Given the description of an element on the screen output the (x, y) to click on. 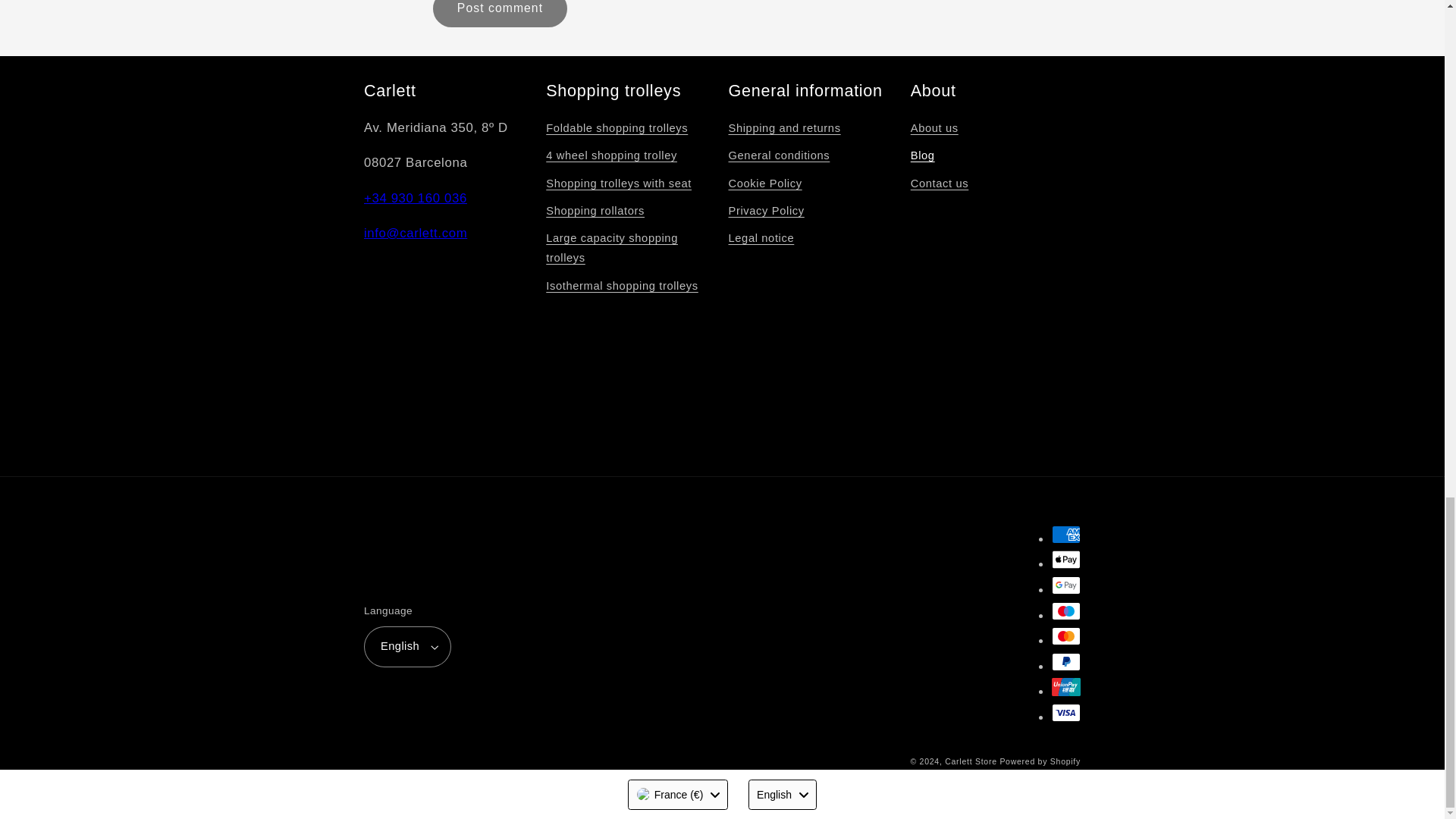
Visa (1065, 712)
American Express (1065, 534)
Maestro (1065, 610)
Mastercard (1065, 636)
Union Pay (1065, 687)
Apple Pay (1065, 559)
PayPal (1065, 661)
Post comment (499, 13)
Google Pay (1065, 585)
